Given the description of an element on the screen output the (x, y) to click on. 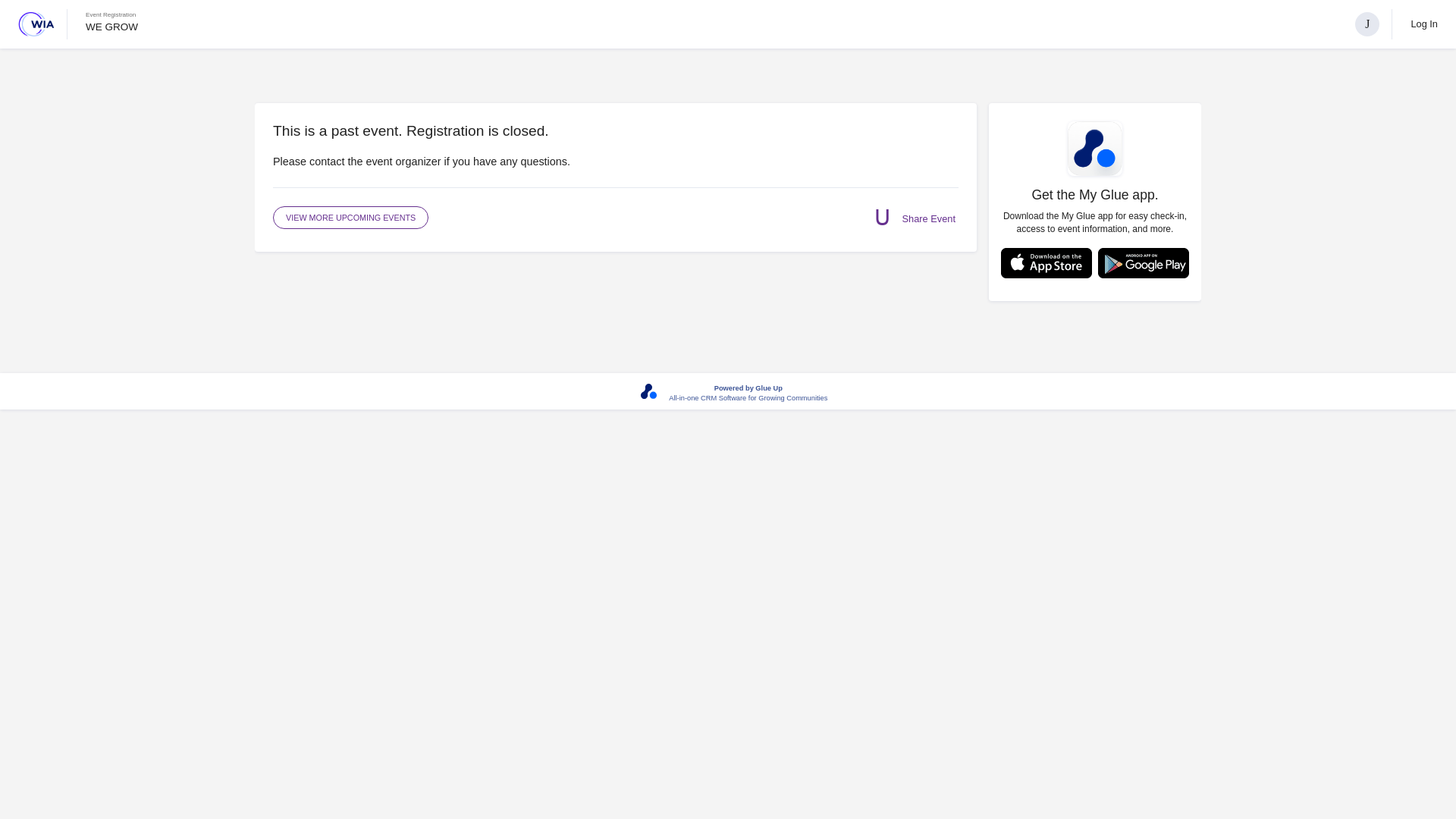
WIA logo (35, 24)
VIEW MORE UPCOMING EVENTS (350, 217)
